Given the description of an element on the screen output the (x, y) to click on. 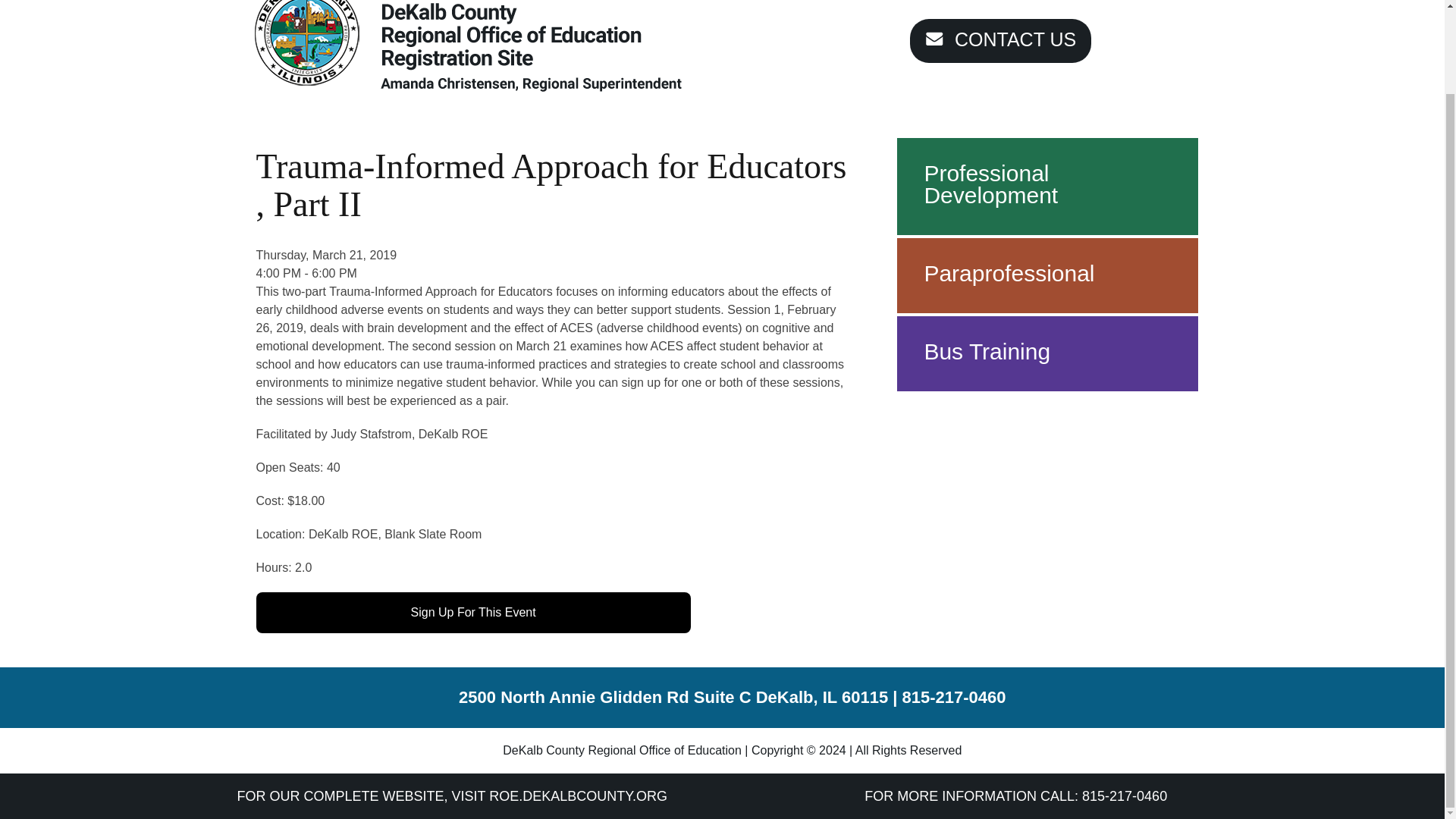
815-217-0460 (954, 696)
Professional Development (990, 184)
Bus Training (986, 351)
Sign Up For This Event (473, 612)
ROE.DEKALBCOUNTY.ORG (577, 795)
Paraprofessional (1008, 273)
CONTACT US (1000, 40)
815-217-0460 (1124, 795)
